Given the description of an element on the screen output the (x, y) to click on. 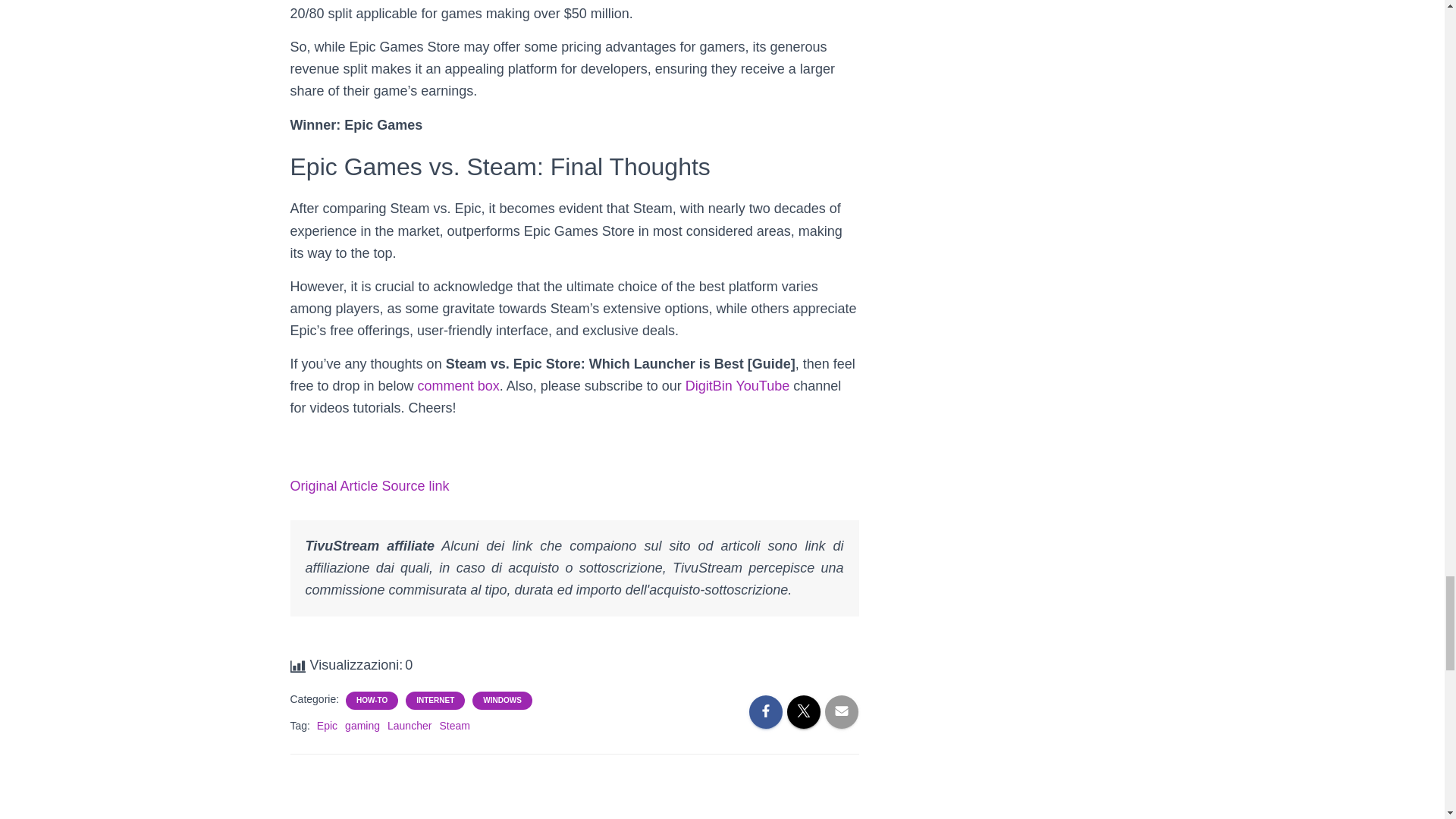
Epic (327, 725)
INTERNET (434, 700)
DigitBin YouTube (737, 385)
DigitBin YouTube (737, 385)
Original Article Source link (368, 485)
gaming (362, 725)
Steam (453, 725)
WINDOWS (501, 700)
Launcher (408, 725)
comment box (458, 385)
HOW-TO (371, 700)
comment box (458, 385)
